Given the description of an element on the screen output the (x, y) to click on. 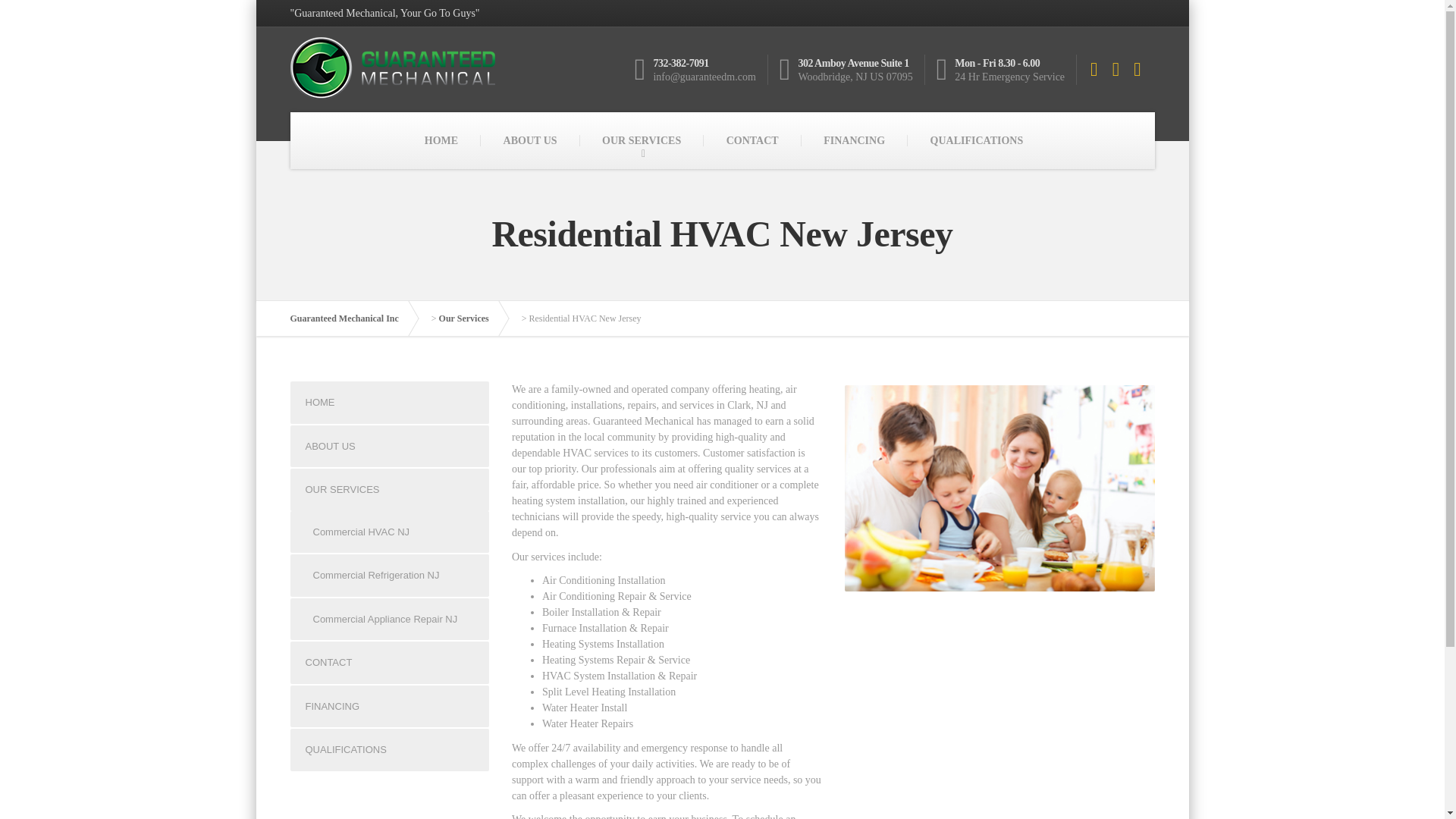
Go to Our Services. (471, 318)
QUALIFICATIONS (389, 749)
ABOUT US (529, 140)
OUR SERVICES (389, 489)
Our Services (471, 318)
Guaranteed Mechanical Inc (351, 318)
CONTACT (389, 662)
Commercial Refrigeration NJ (389, 575)
FINANCING (853, 140)
OUR SERVICES (641, 140)
